Given the description of an element on the screen output the (x, y) to click on. 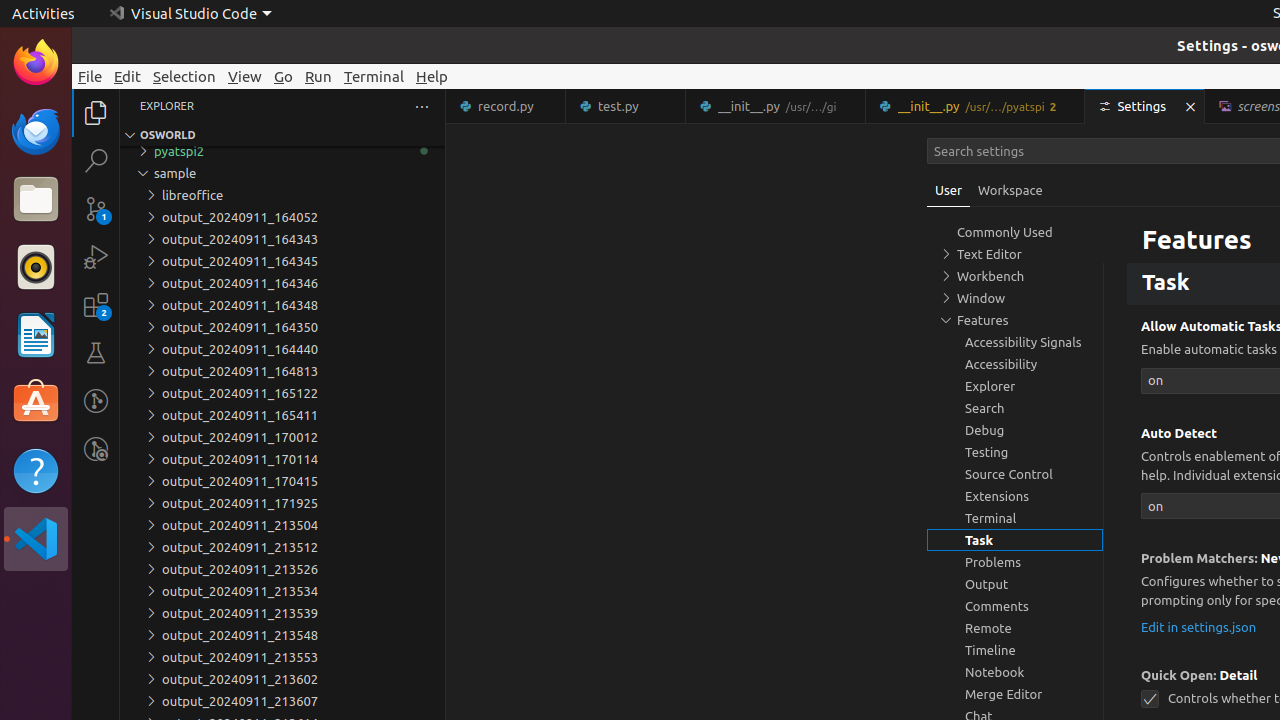
Workbench, group Element type: tree-item (1015, 276)
Settings Element type: page-tab (1145, 106)
output_20240911_170415 Element type: tree-item (282, 481)
Timeline, group Element type: tree-item (1015, 650)
output_20240911_164348 Element type: tree-item (282, 305)
